Given the description of an element on the screen output the (x, y) to click on. 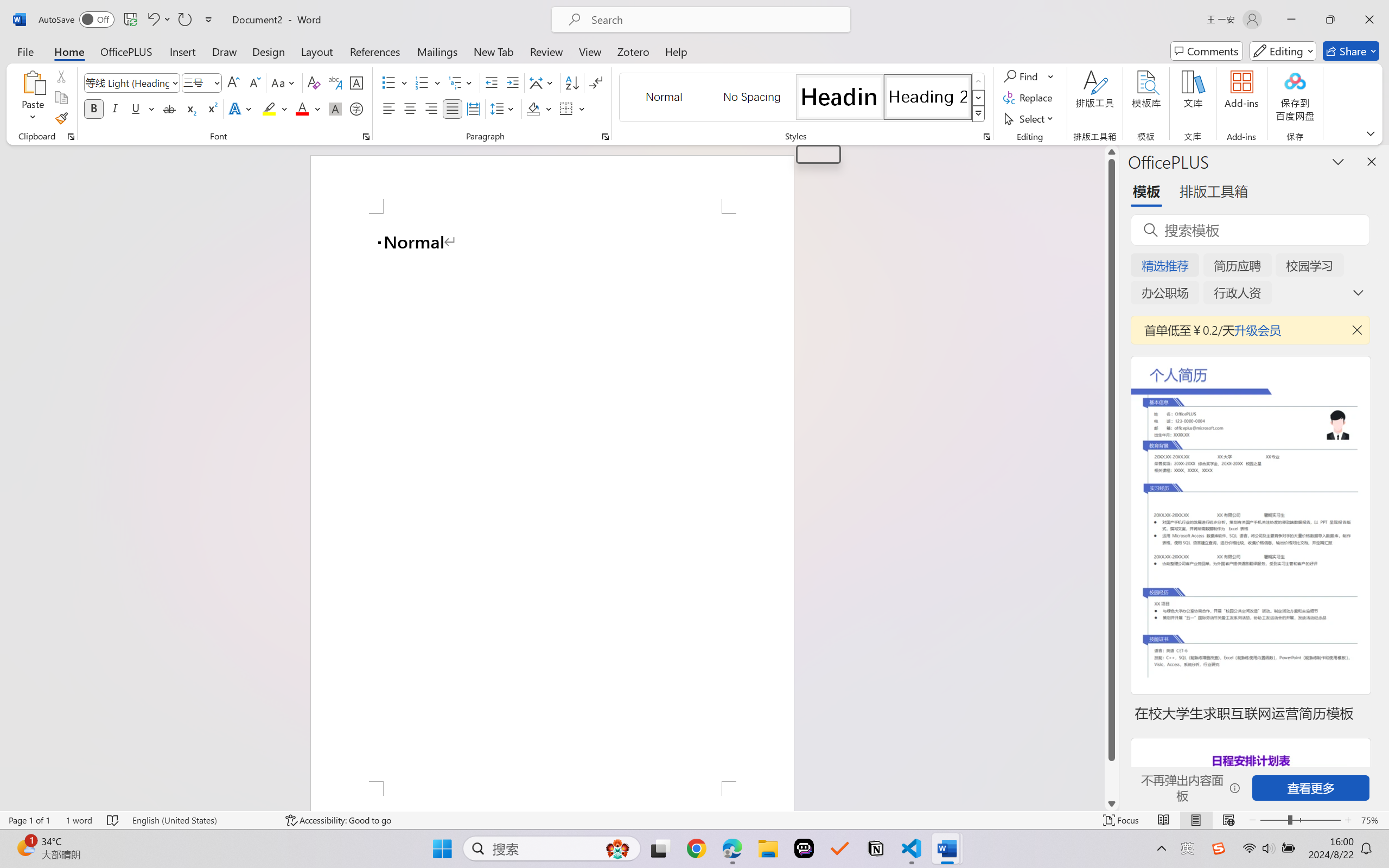
Enclose Characters... (356, 108)
Distributed (473, 108)
Font Color Red (302, 108)
Undo Typing (152, 19)
Strikethrough (169, 108)
Clear Formatting (313, 82)
Restore Down (1330, 19)
Increase Indent (512, 82)
File Tab (24, 51)
Numbering (421, 82)
